Given the description of an element on the screen output the (x, y) to click on. 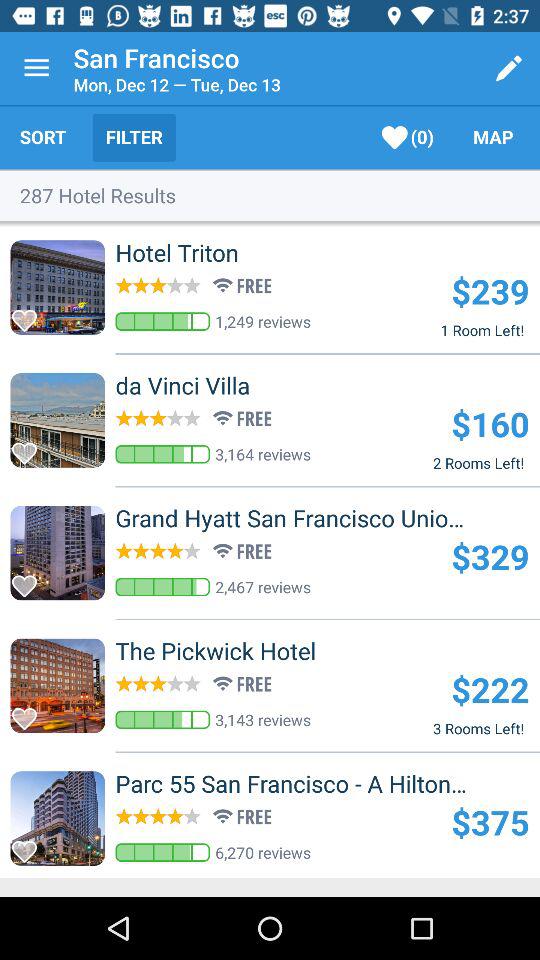
choose icon next to the the pickwick hotel item (490, 689)
